Given the description of an element on the screen output the (x, y) to click on. 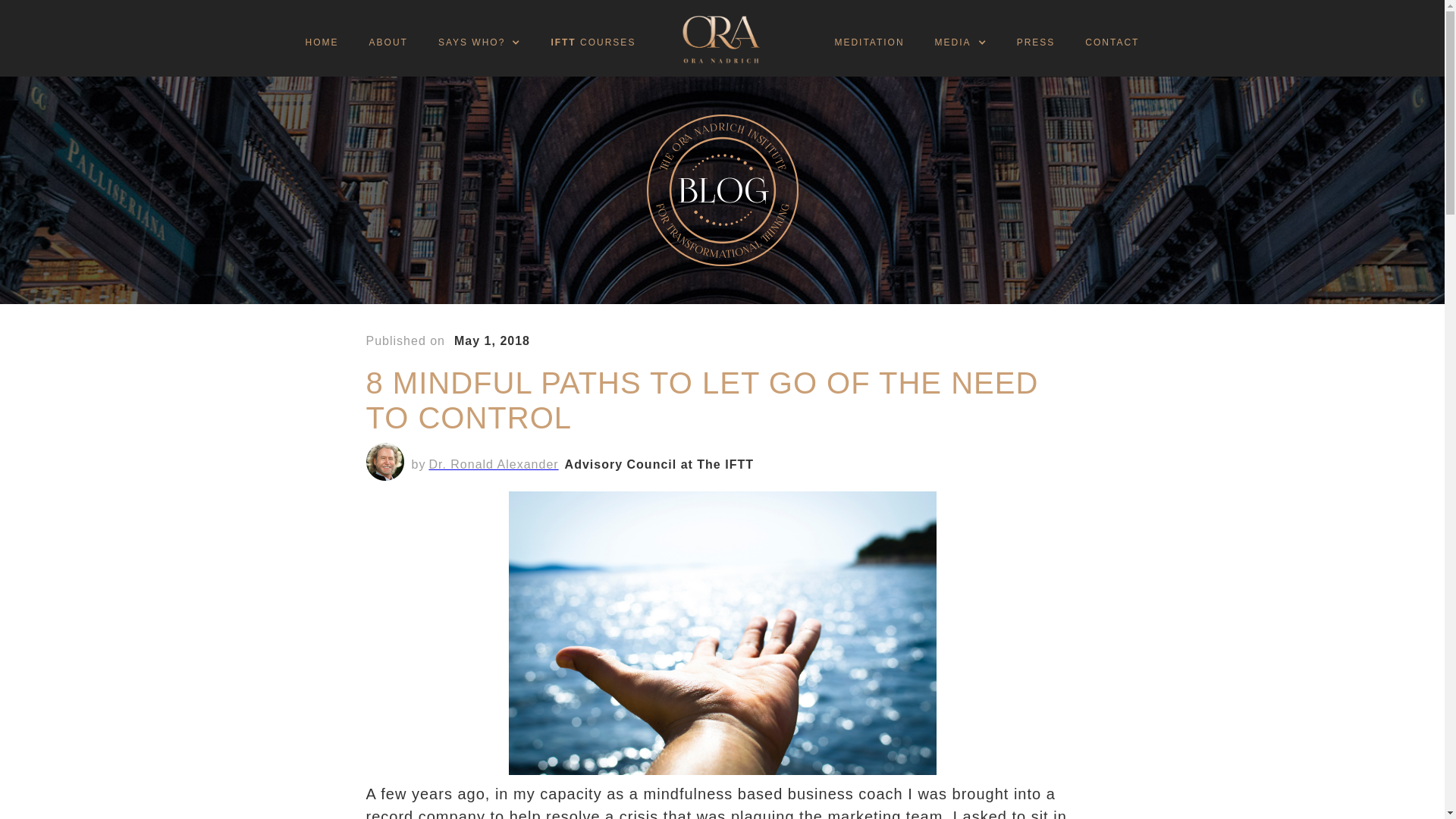
HOME (321, 43)
IFTT COURSES (592, 43)
Dr. Ronald Alexander (492, 462)
PRESS (1035, 43)
MEDITATION (868, 43)
ABOUT (388, 43)
CONTACT (1112, 43)
